Given the description of an element on the screen output the (x, y) to click on. 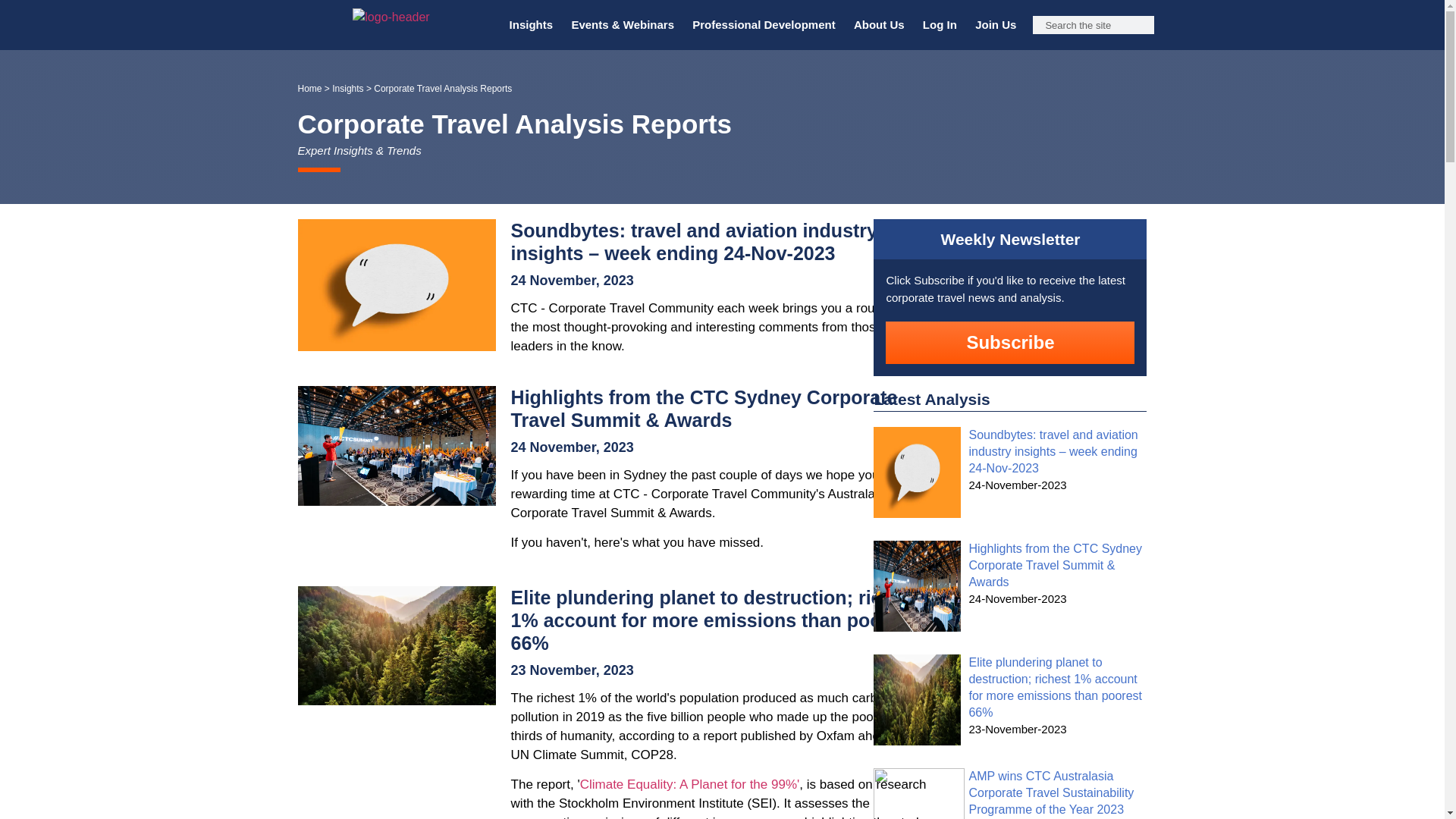
logo-header (390, 17)
About Us (879, 24)
Insights (530, 24)
Log In (940, 24)
Professional Development (763, 24)
Join Us (995, 24)
